Given the description of an element on the screen output the (x, y) to click on. 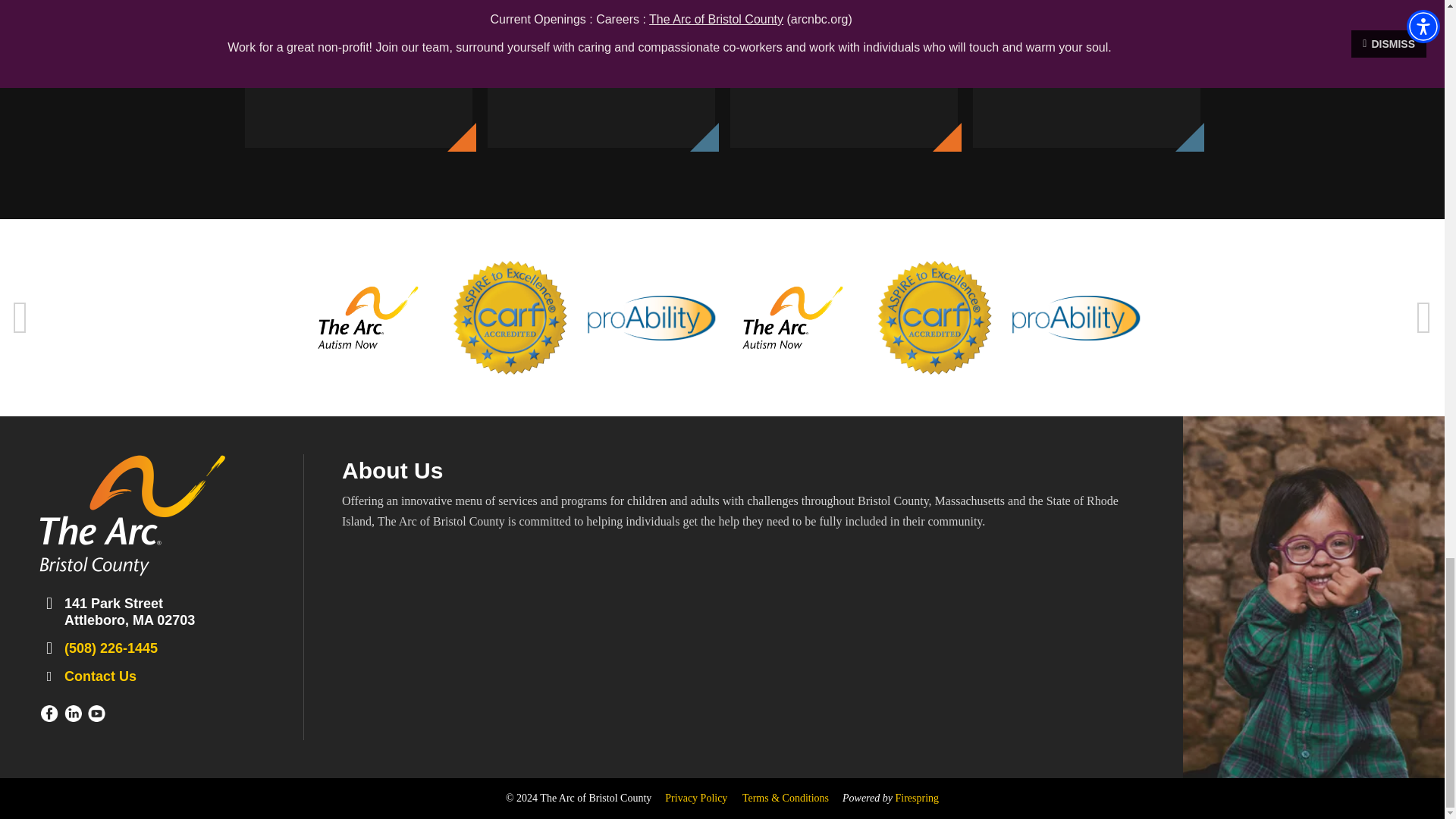
logo (132, 515)
